Given the description of an element on the screen output the (x, y) to click on. 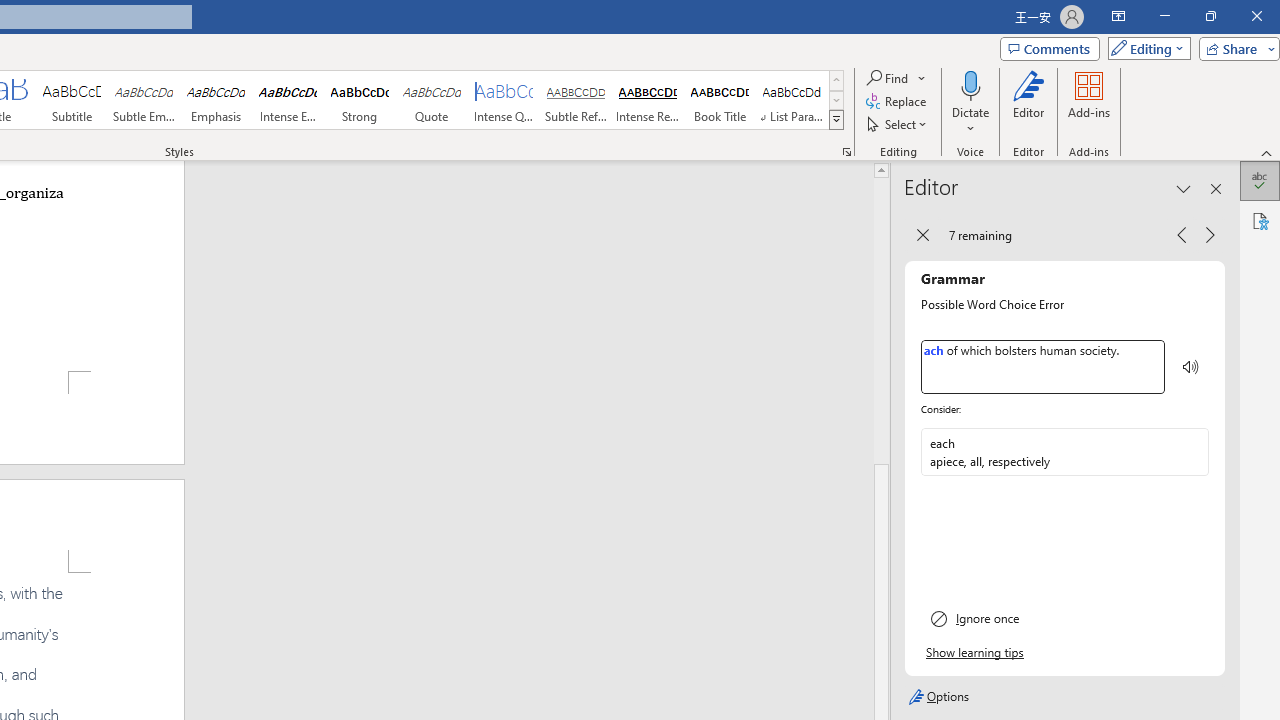
Back (922, 234)
Emphasis (216, 100)
Accessibility (1260, 220)
Close pane (1215, 188)
Select (898, 124)
More options for each (1192, 452)
Row Down (836, 100)
Next Issue, 7 remaining (1209, 234)
each (1065, 451)
Editor (1260, 180)
